Given the description of an element on the screen output the (x, y) to click on. 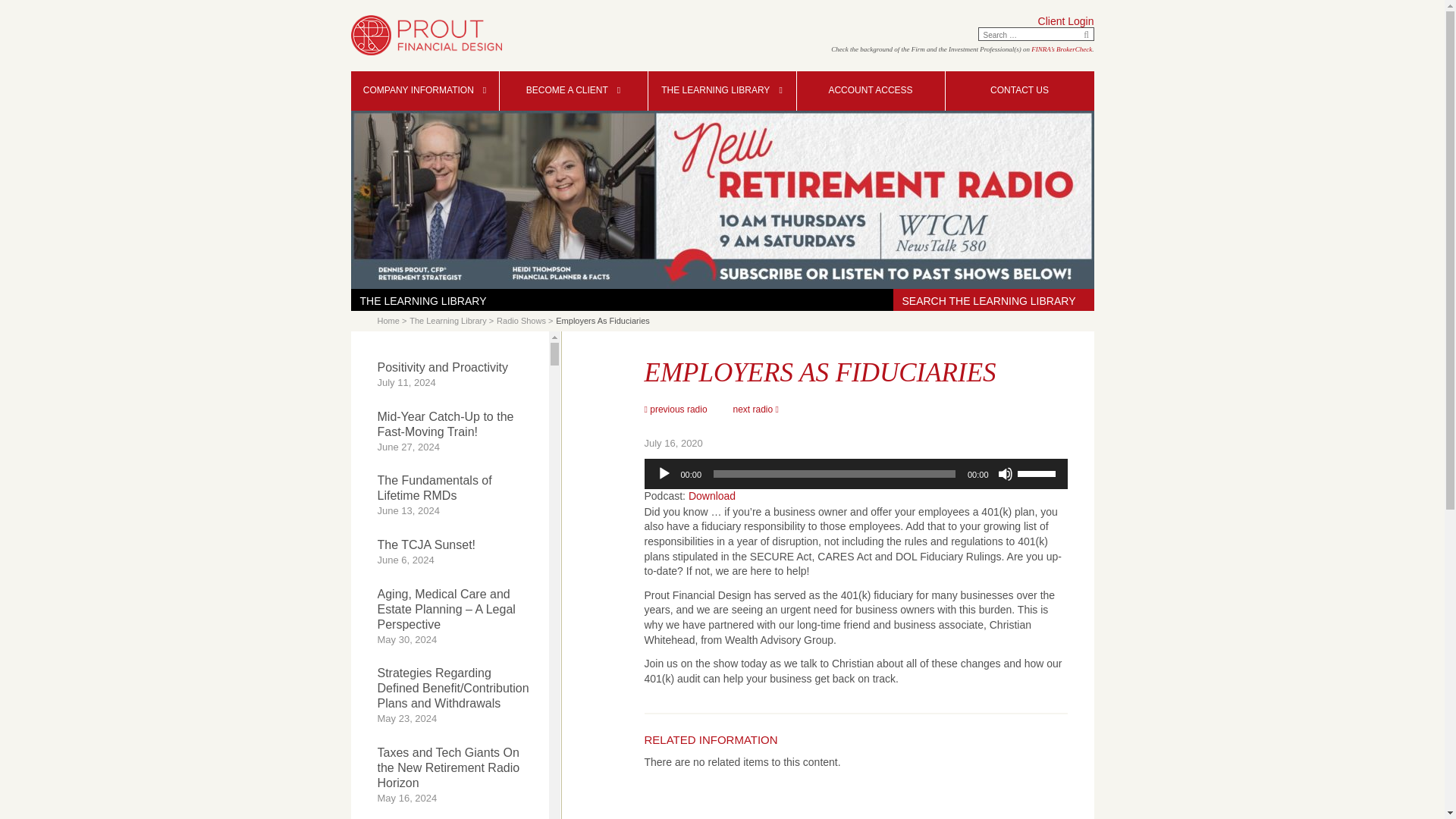
COMPANY INFORMATION (423, 90)
Employers As Fiduciaries (602, 321)
Search for: (1026, 35)
SEARCH THE LEARNING LIBRARY (993, 298)
Prout Financial Design (425, 35)
Play (663, 473)
Download (711, 495)
Download (711, 495)
THE LEARNING LIBRARY (720, 90)
Go (1086, 32)
